Given the description of an element on the screen output the (x, y) to click on. 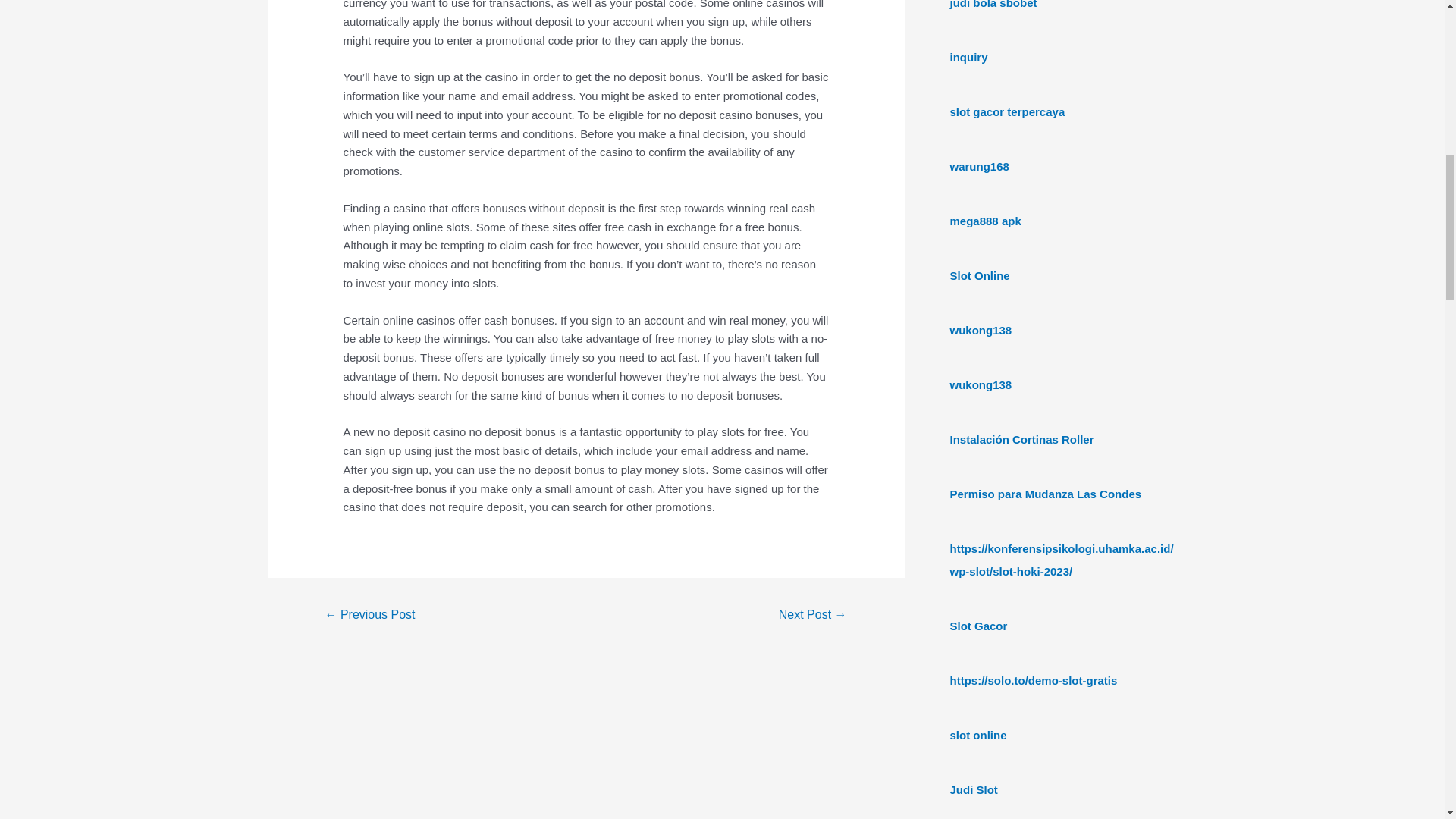
wukong138 (980, 384)
Permiso para Mudanza Las Condes (1045, 493)
slot gacor terpercaya (1006, 111)
judi bola sbobet (992, 4)
A Closer Look at the Bier Haus Slot Machine Online Free (812, 615)
mega888 apk (984, 220)
warung168 (979, 165)
wukong138 (980, 329)
Slot Online (979, 275)
Play Online Slots For Free (368, 615)
inquiry (968, 56)
